Given the description of an element on the screen output the (x, y) to click on. 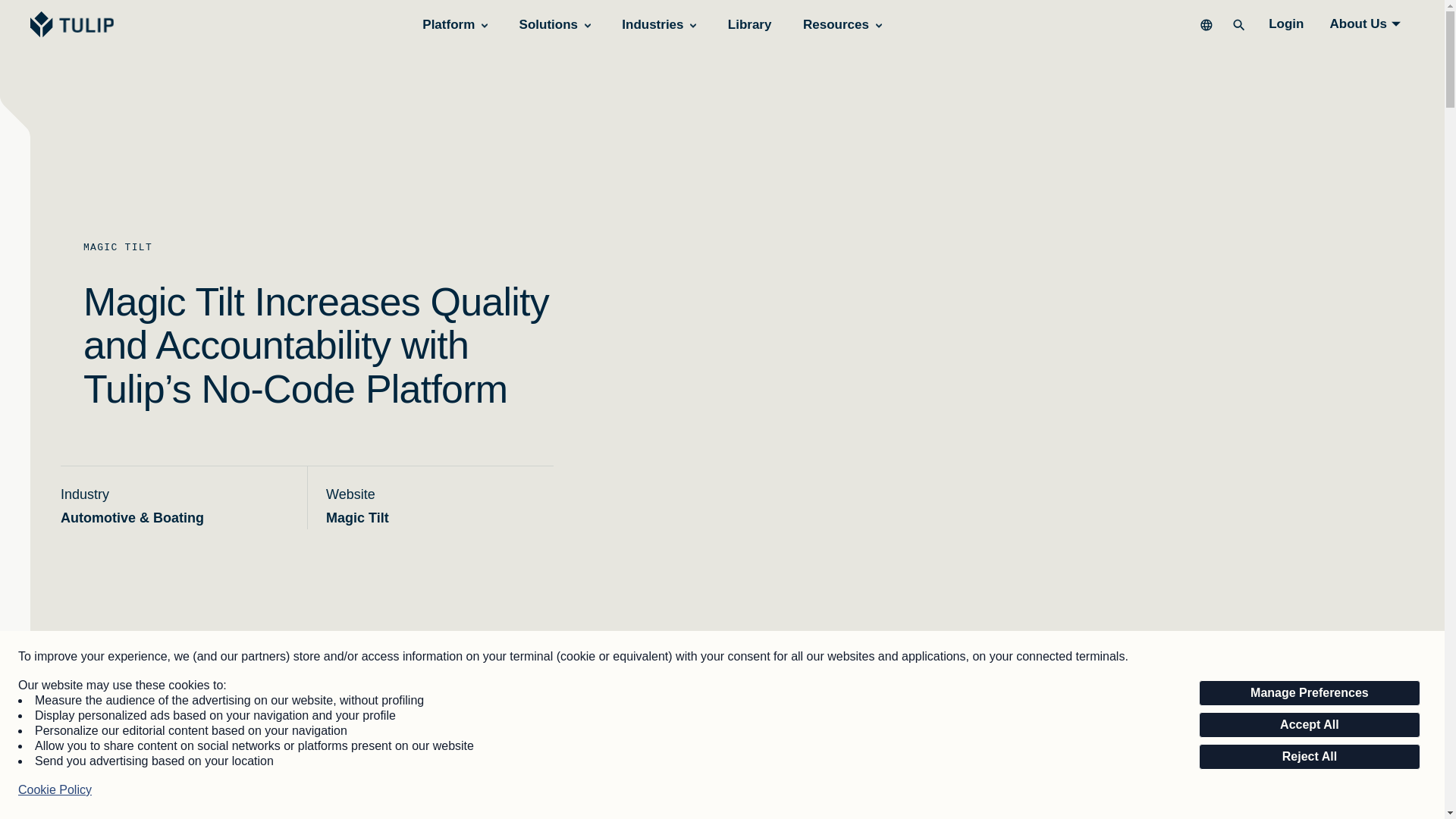
Tulip (73, 23)
Accept All (1309, 724)
Reject All (1309, 756)
Cookie Policy (54, 789)
Manage Preferences (1309, 692)
